Given the description of an element on the screen output the (x, y) to click on. 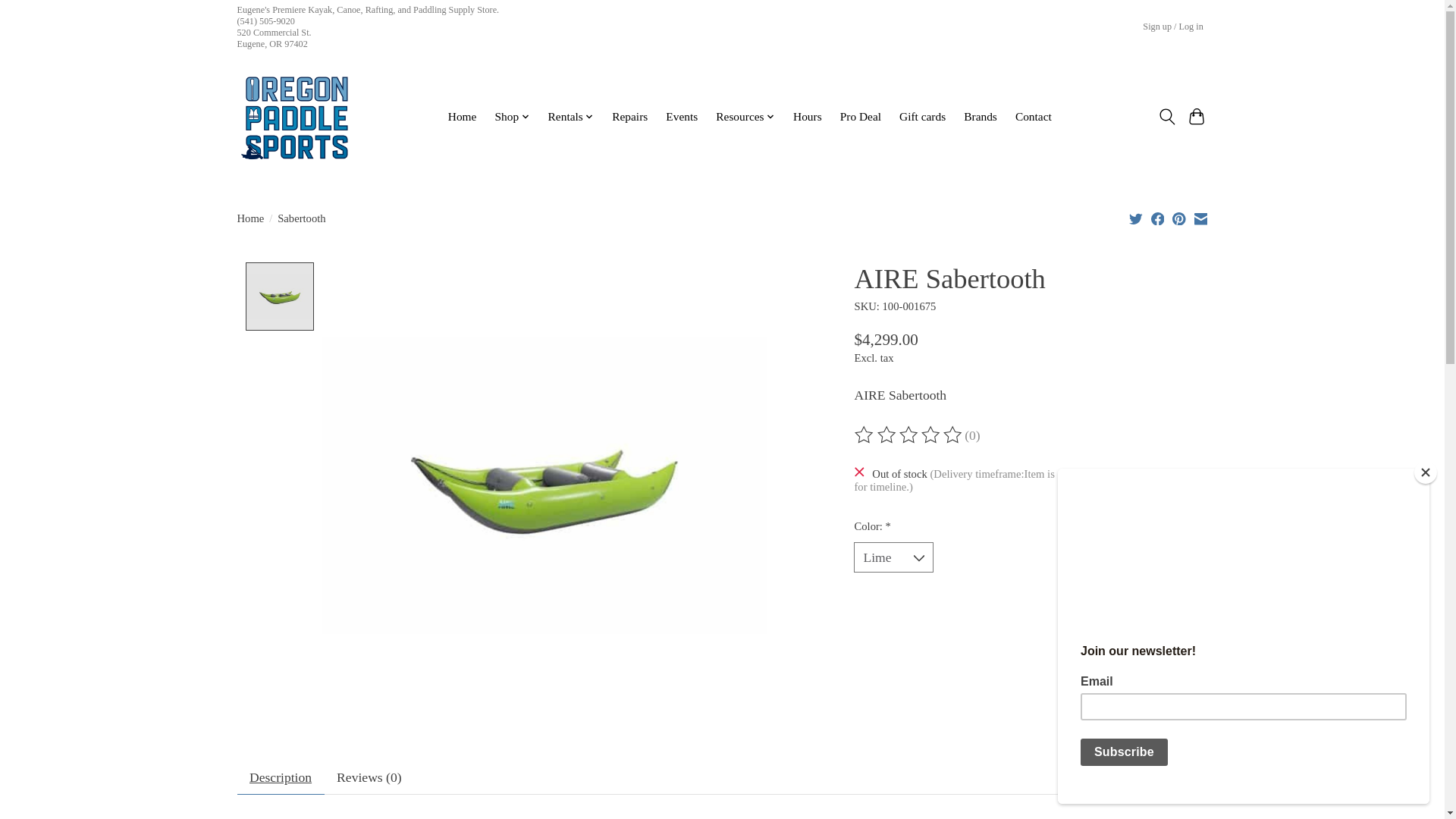
Share on Pinterest (1178, 219)
Oregon's Premiere Paddling Retail and Rental Outlet (292, 116)
Share by Email (1200, 219)
Shop (512, 116)
Share on Facebook (1157, 219)
Home (461, 116)
My account (1173, 27)
Share on Twitter (1135, 219)
